Given the description of an element on the screen output the (x, y) to click on. 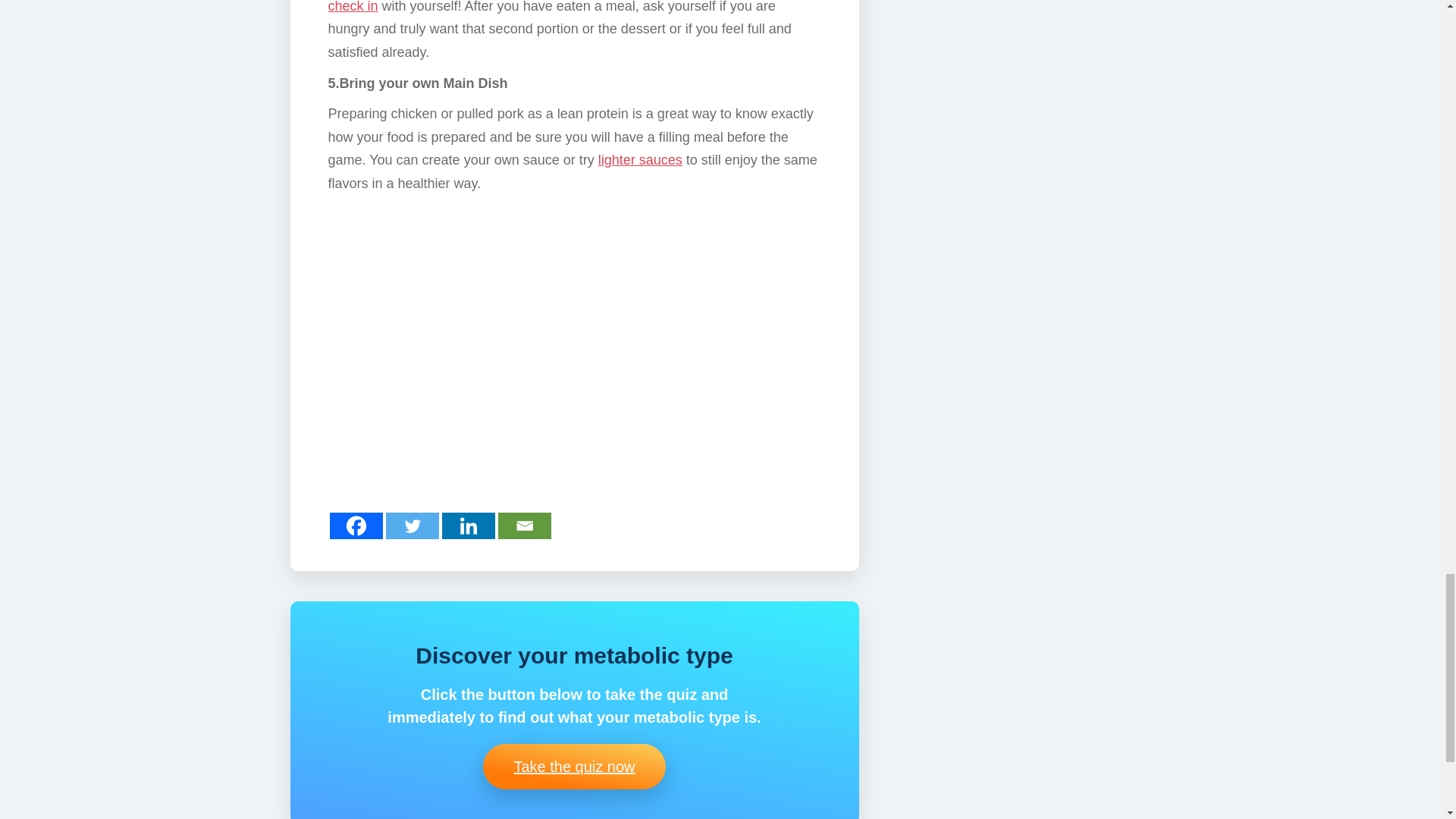
lighter sauces (640, 159)
Take the quiz now (574, 766)
check in (352, 6)
Twitter (411, 525)
Facebook (355, 525)
